Given the description of an element on the screen output the (x, y) to click on. 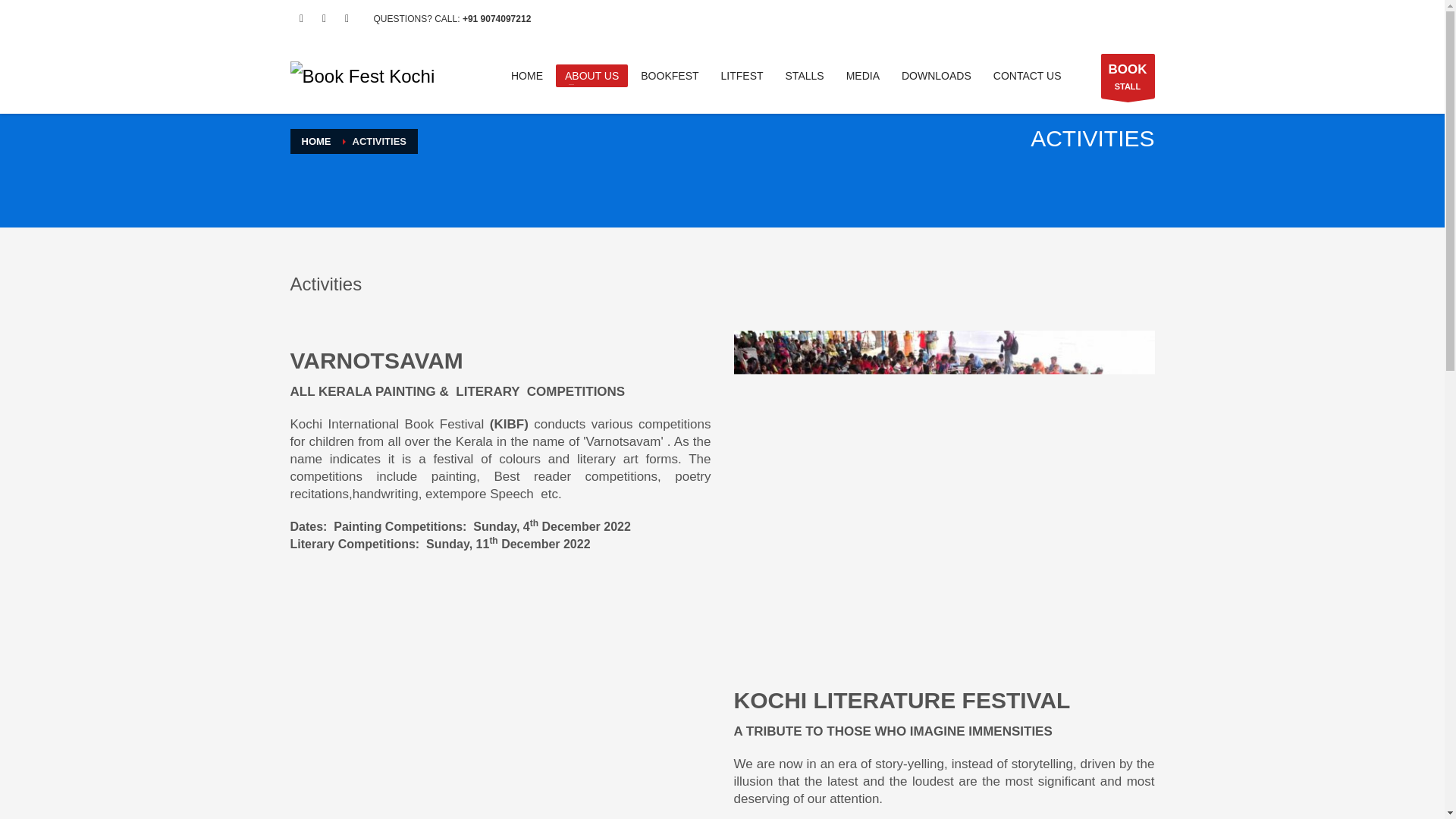
Facebook (301, 18)
Promote reading, encourage writing (361, 76)
DOWNLOADS (1127, 75)
HOME (935, 75)
CONTACT US (316, 141)
BOOKFEST (1027, 75)
LITFEST (669, 75)
MEDIA (742, 75)
STALLS (862, 75)
